Given the description of an element on the screen output the (x, y) to click on. 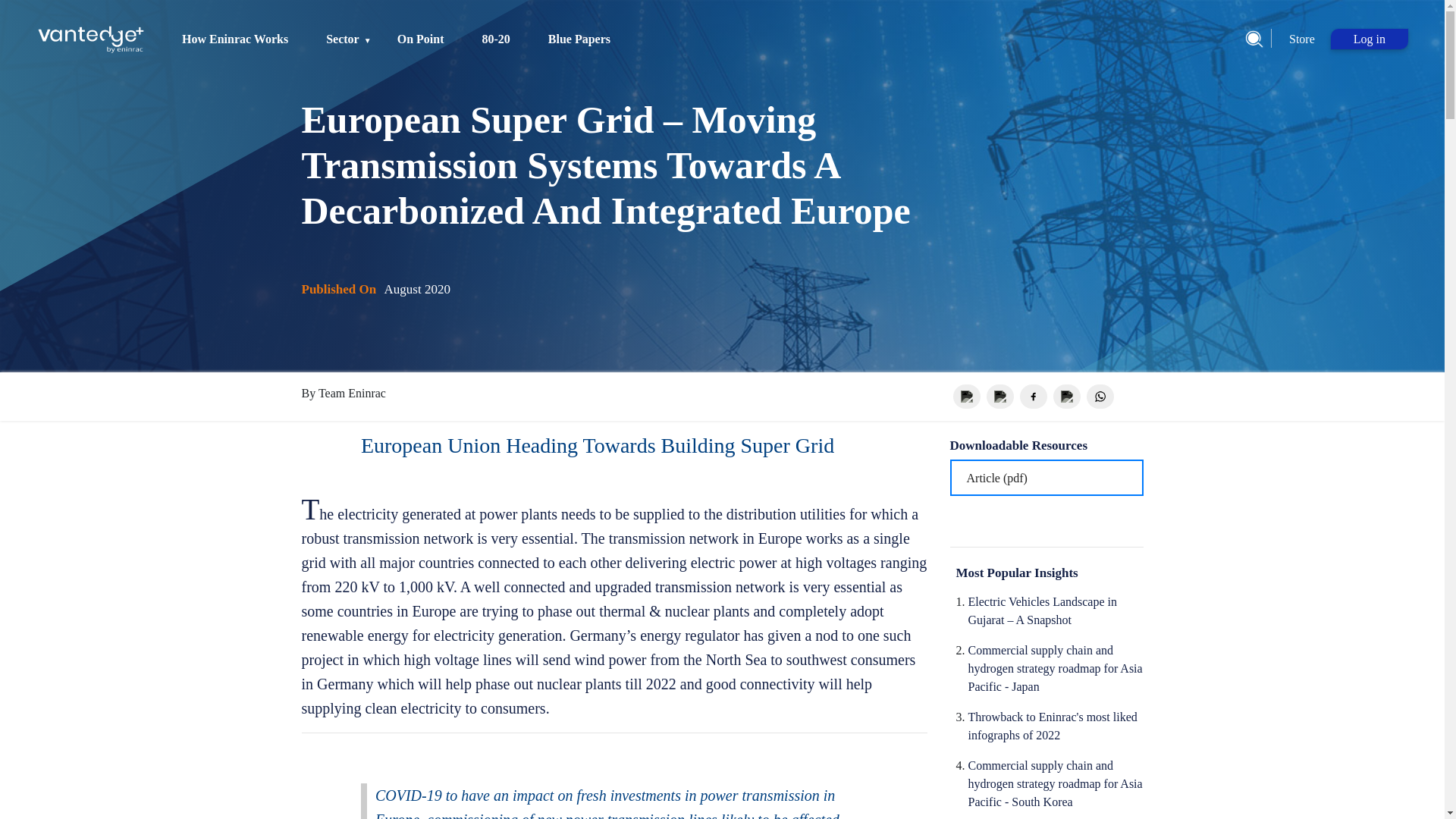
Blue Papers (579, 39)
On Point (420, 39)
How Eninrac Works (235, 39)
80-20 (496, 39)
Store (1301, 38)
